Given the description of an element on the screen output the (x, y) to click on. 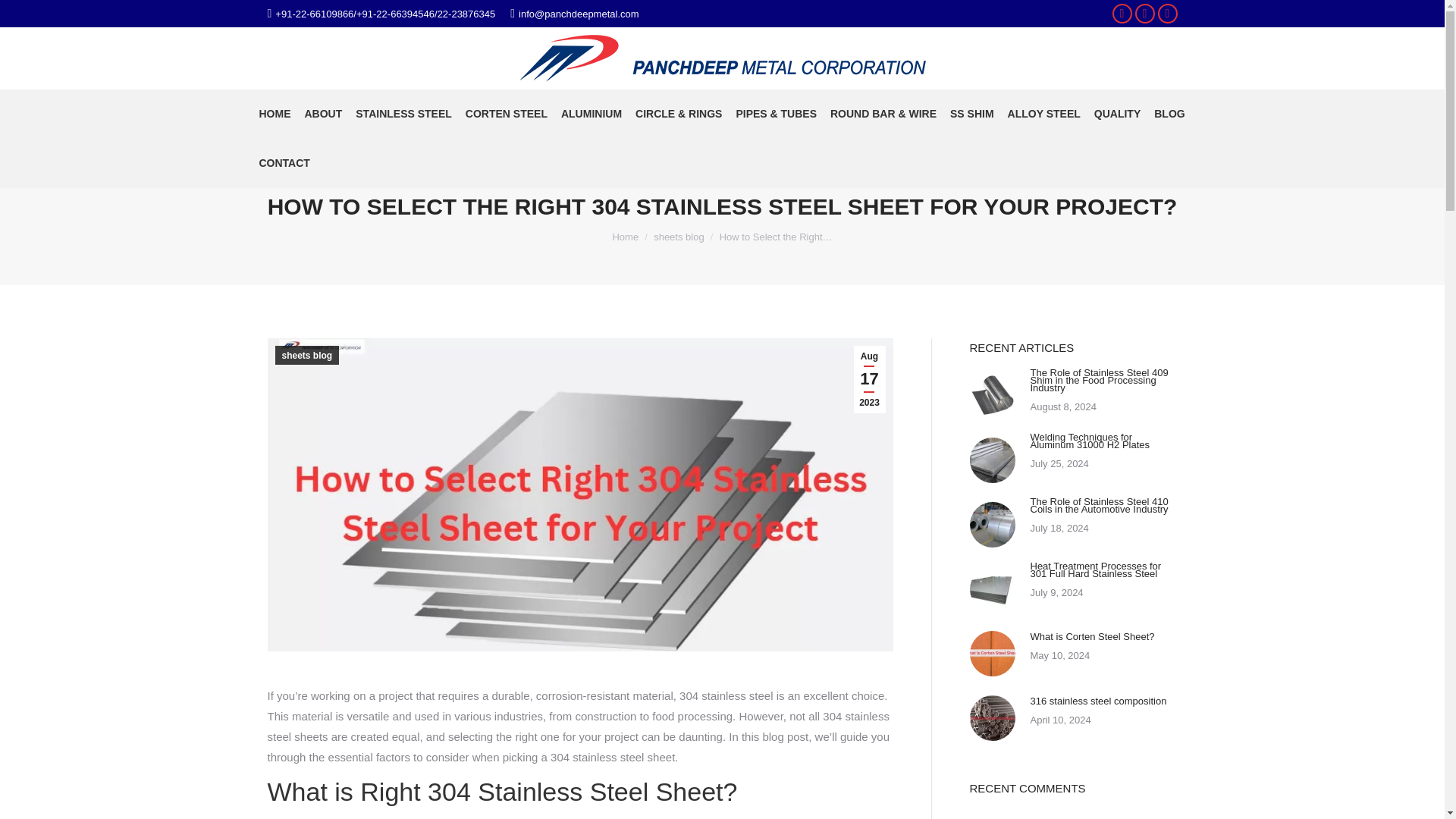
22-23876345 (467, 12)
SS SHIM (971, 114)
Twitter page opens in new window (1144, 13)
Twitter page opens in new window (1144, 13)
ALUMINIUM (591, 114)
CORTEN STEEL (506, 114)
ABOUT (322, 114)
HOME (274, 114)
Dribbble page opens in new window (1167, 13)
Dribbble page opens in new window (1167, 13)
